Given the description of an element on the screen output the (x, y) to click on. 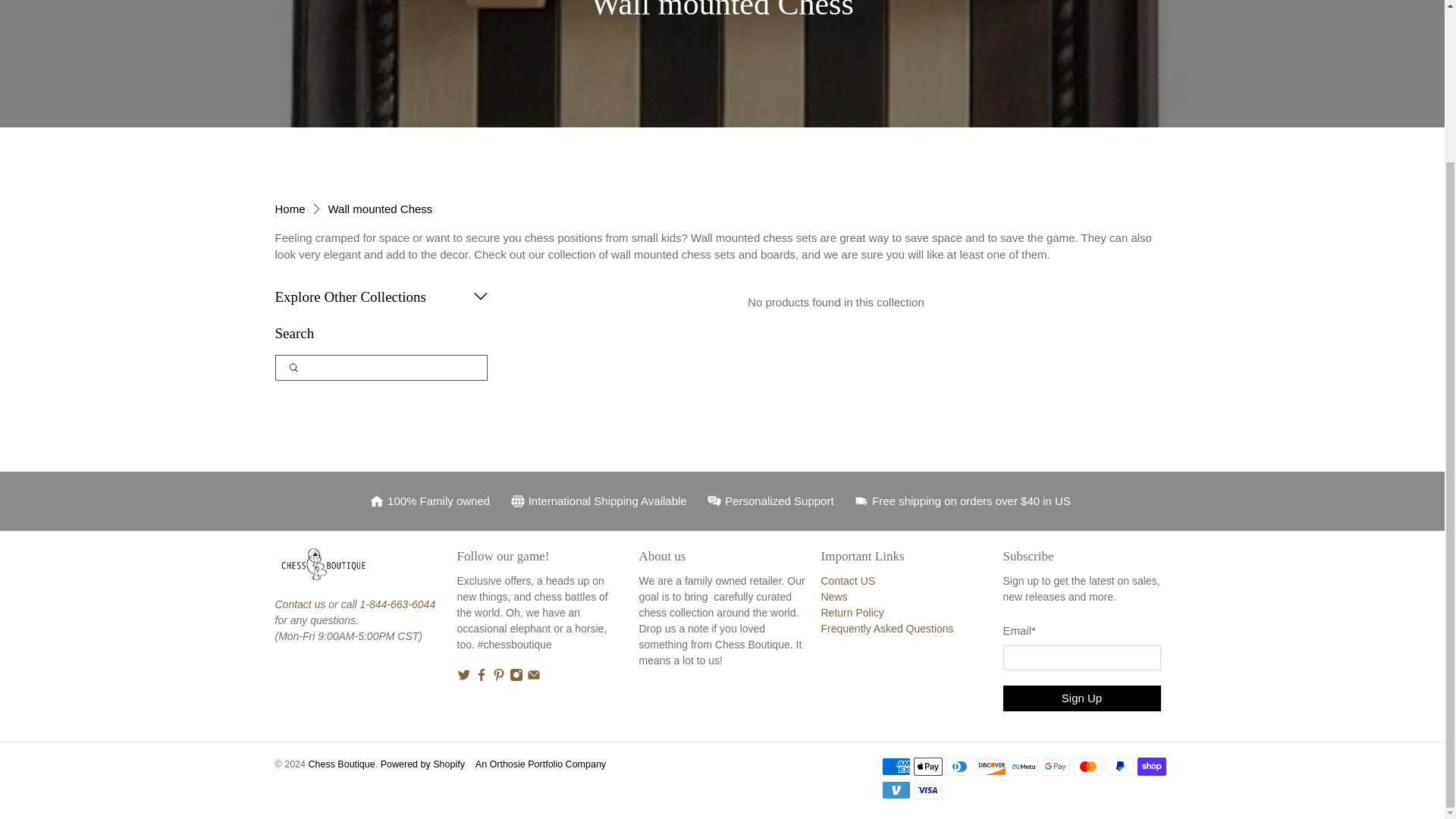
Apple Pay (928, 766)
Discover (991, 766)
Chess Boutique (289, 208)
Meta Pay (1023, 766)
Wall mounted Chess (380, 208)
American Express (895, 766)
Diners Club (959, 766)
